Given the description of an element on the screen output the (x, y) to click on. 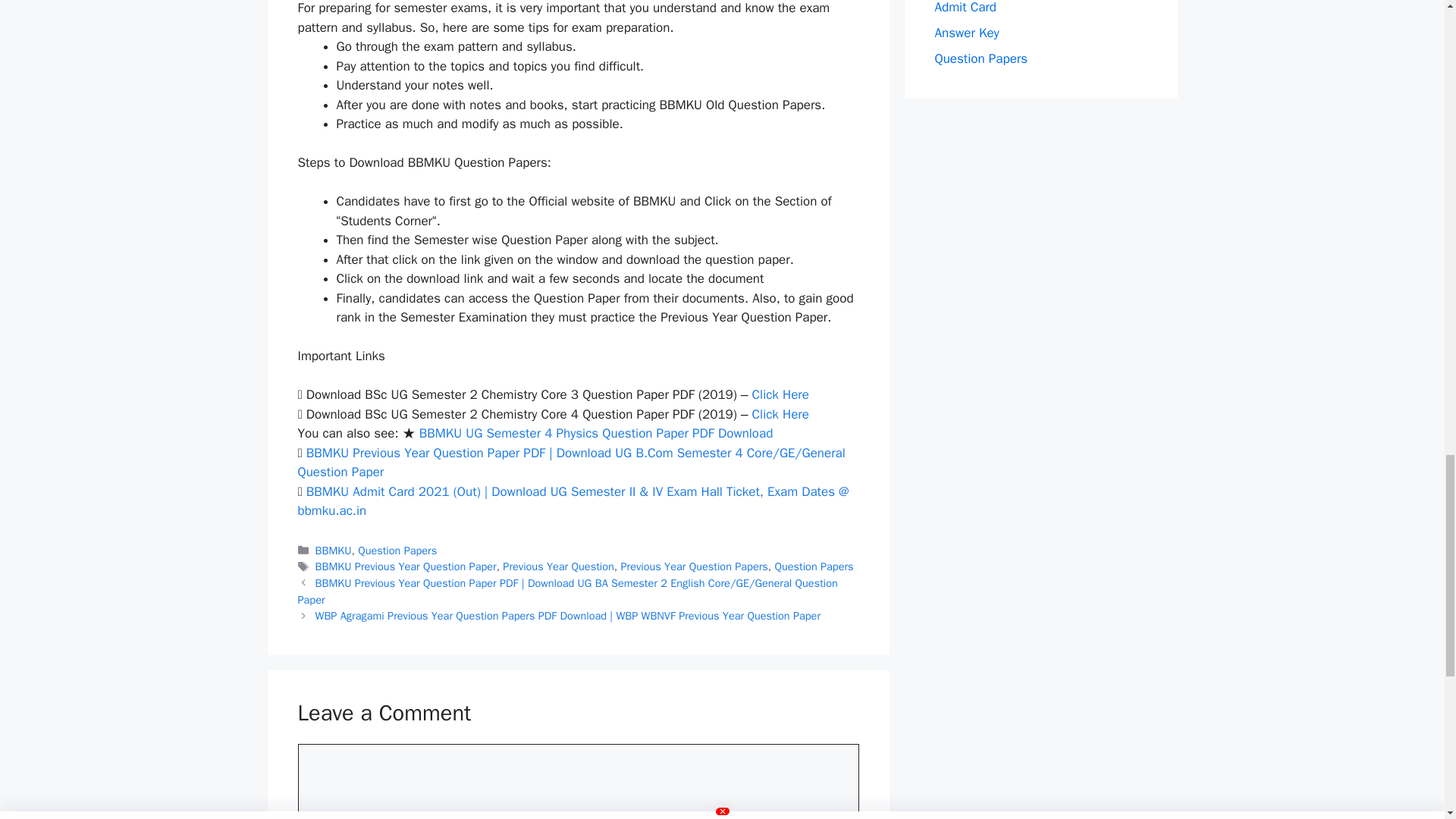
Previous Year Question Papers (693, 566)
Previous Year Question (557, 566)
Question Papers (813, 566)
Click Here (780, 394)
Click Here (780, 414)
Question Papers (397, 550)
BBMKU (333, 550)
BBMKU Previous Year Question Paper (405, 566)
BBMKU UG Semester 4 Physics Question Paper PDF Download (596, 433)
